Given the description of an element on the screen output the (x, y) to click on. 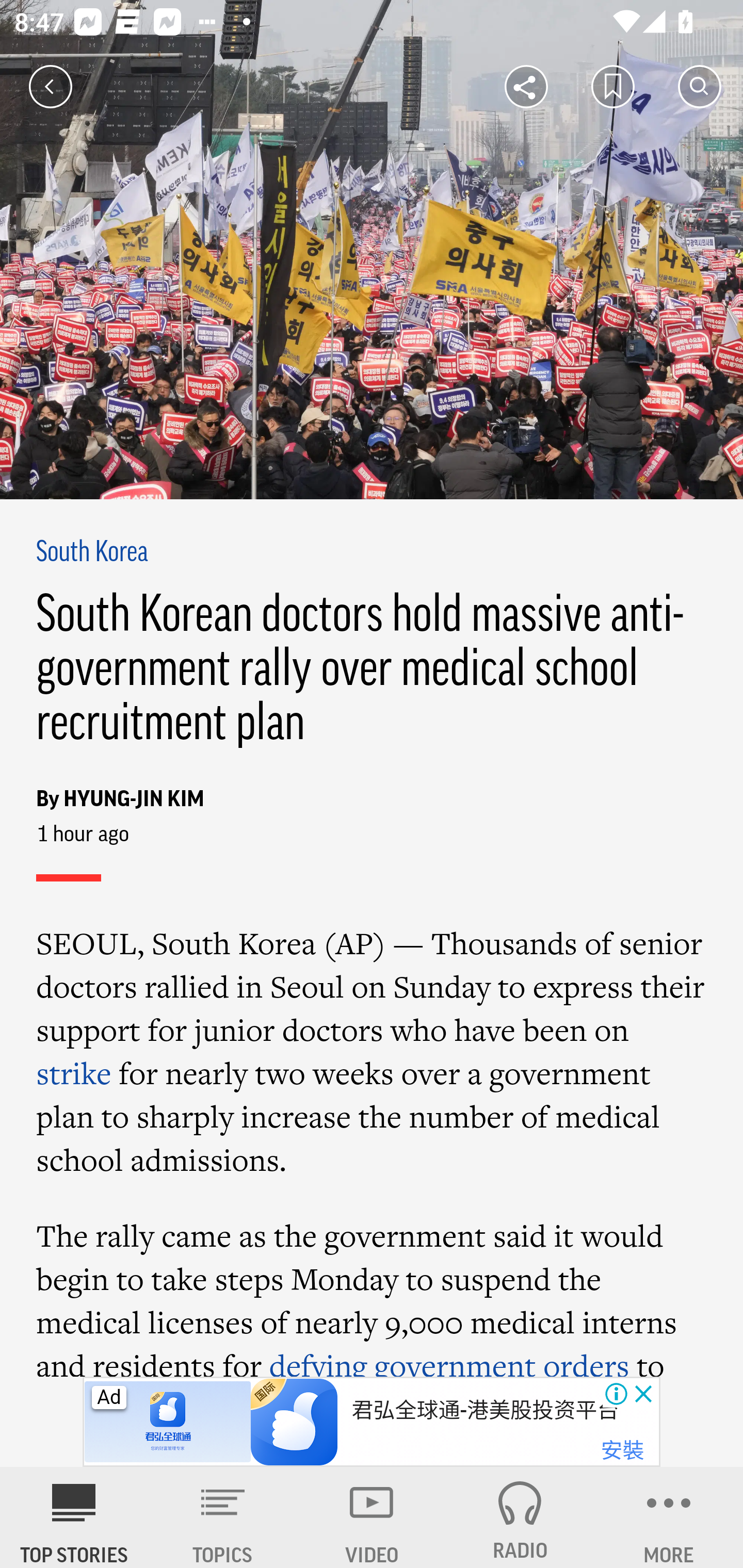
South Korea (92, 552)
strike (74, 1073)
defying government orders (448, 1359)
中原地產 Centaline Property (486, 1410)
安裝 (621, 1450)
AP News TOP STORIES (74, 1517)
TOPICS (222, 1517)
VIDEO (371, 1517)
RADIO (519, 1517)
MORE (668, 1517)
